Given the description of an element on the screen output the (x, y) to click on. 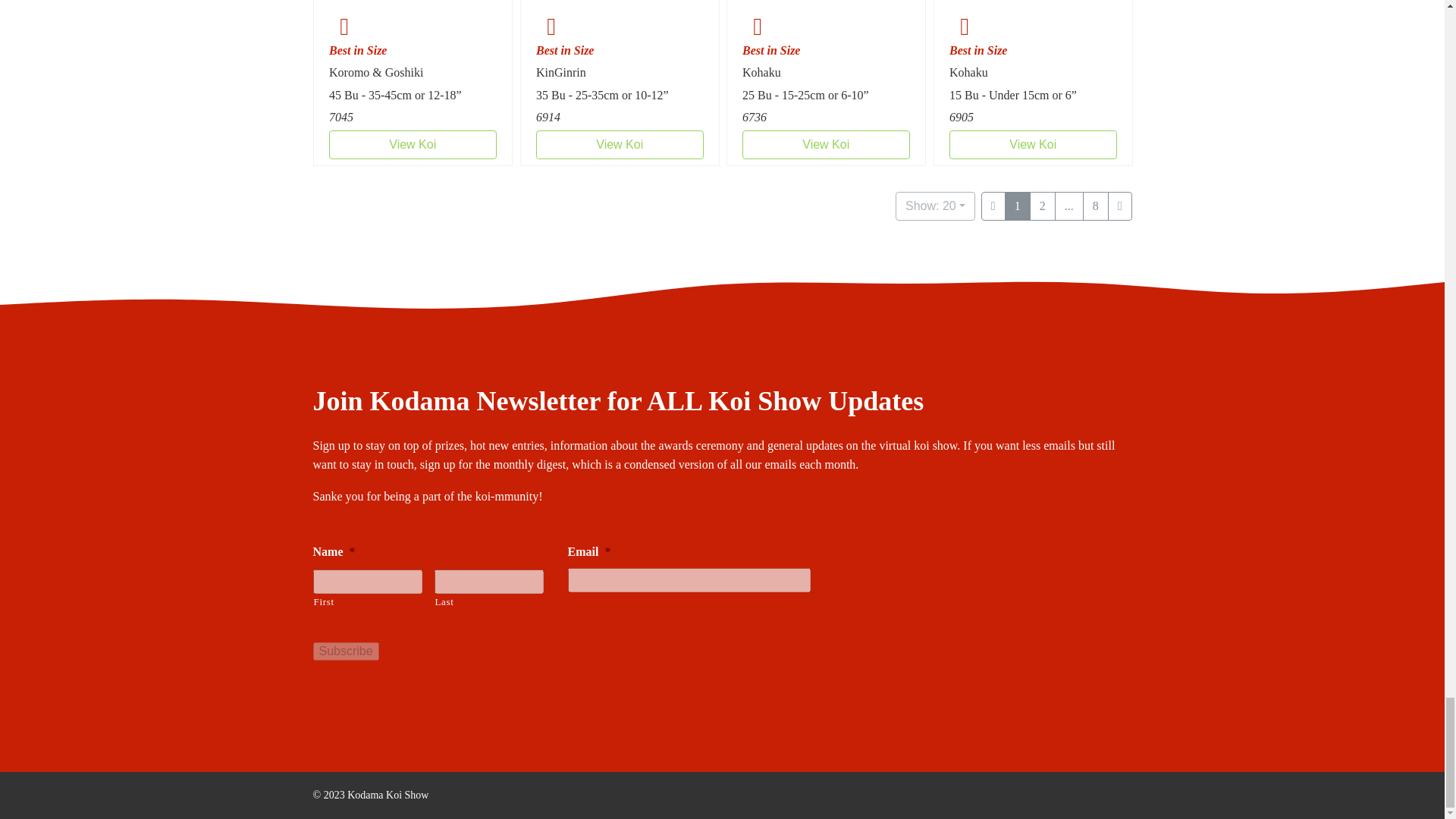
Subscribe (345, 651)
